Given the description of an element on the screen output the (x, y) to click on. 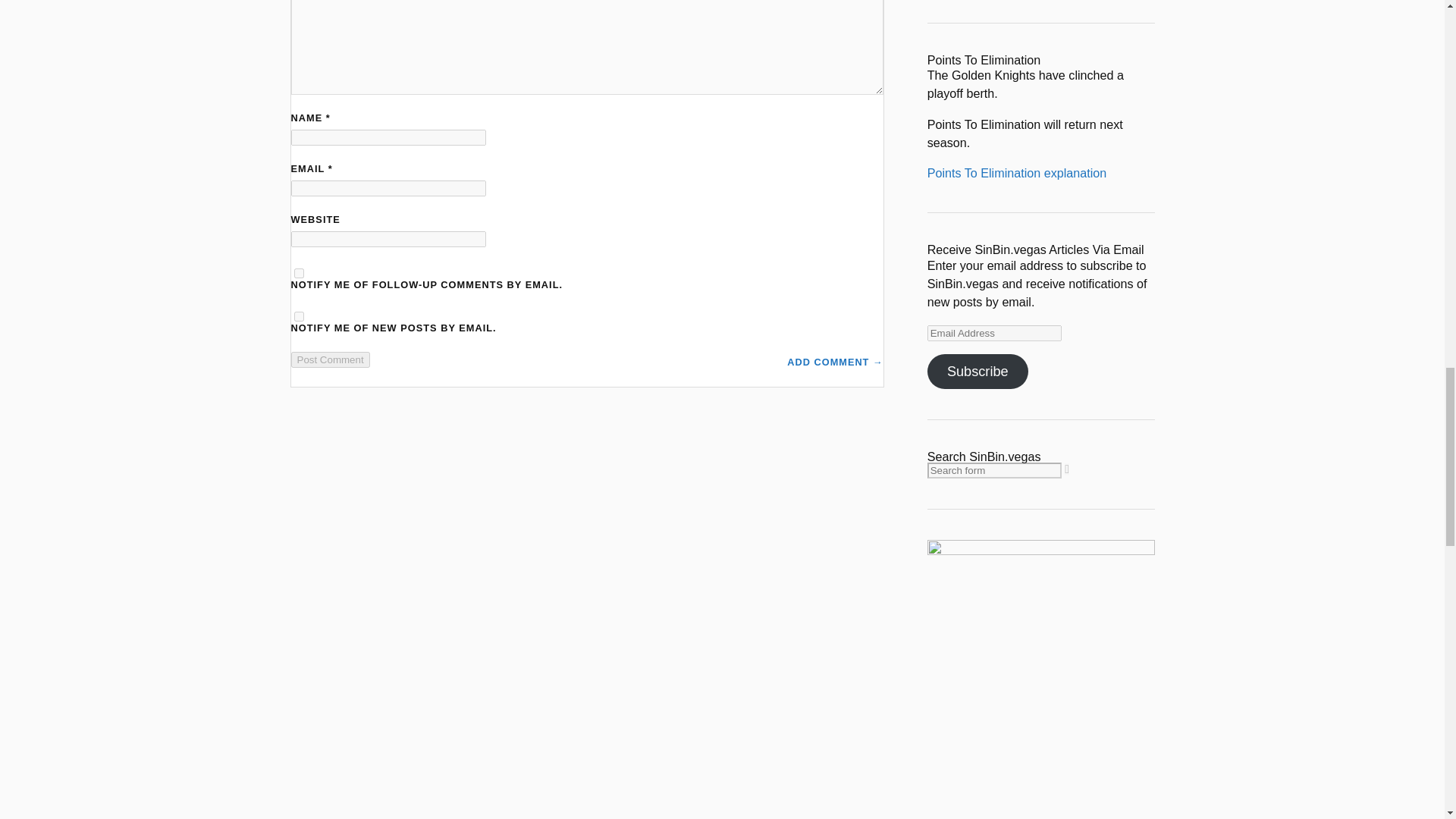
Post Comment (330, 359)
subscribe (299, 316)
subscribe (299, 273)
